Given the description of an element on the screen output the (x, y) to click on. 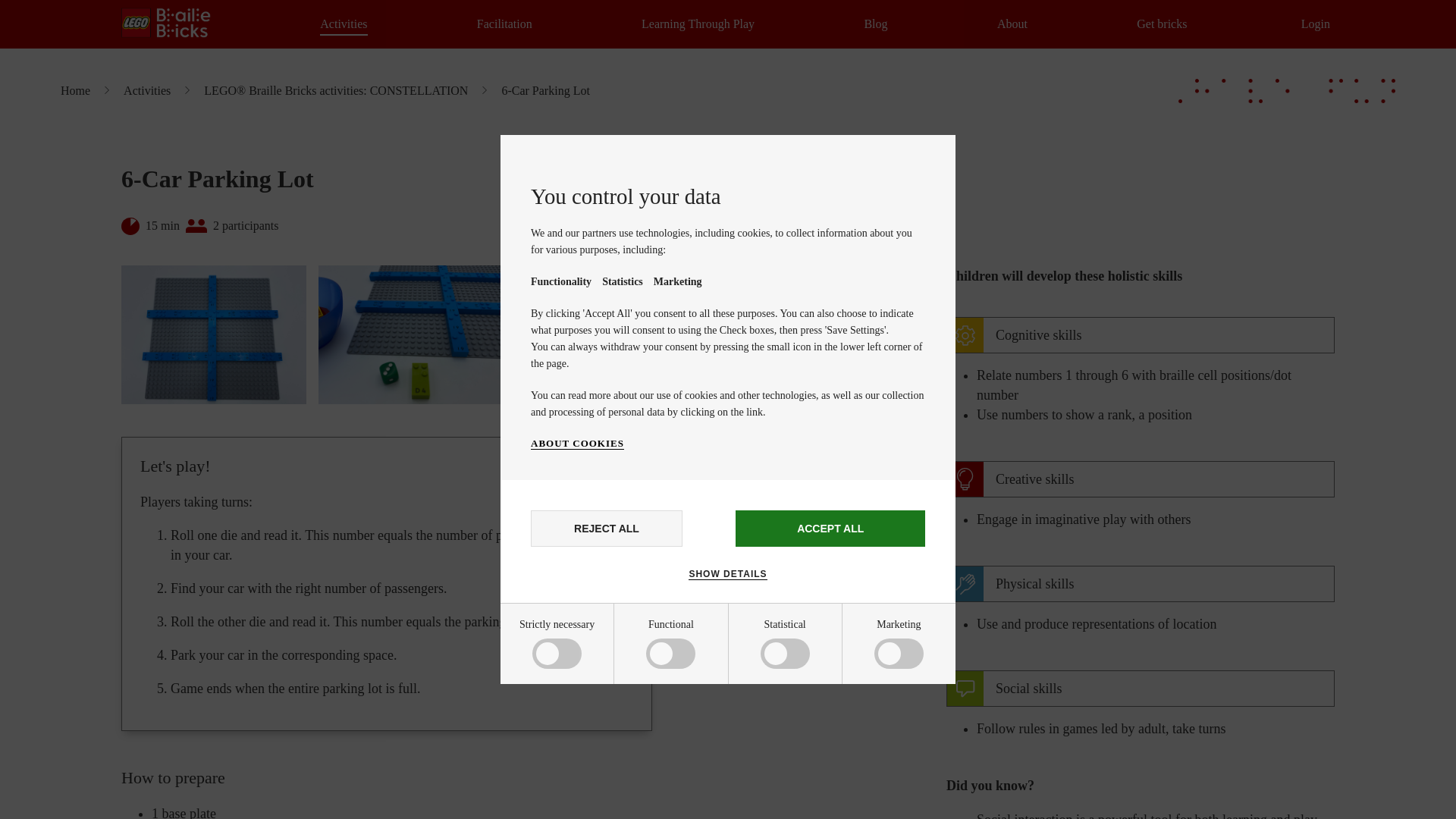
Learning Through Play (698, 24)
Statistical (585, 766)
SHOW DETAILS (727, 573)
Functional (585, 714)
ABOUT COOKIES (577, 443)
Strictly necessary (585, 657)
ACCEPT ALL (829, 528)
Activities (343, 24)
Marketing (585, 809)
About (1012, 24)
Facilitation (504, 24)
Blog (874, 24)
REJECT ALL (606, 528)
